Given the description of an element on the screen output the (x, y) to click on. 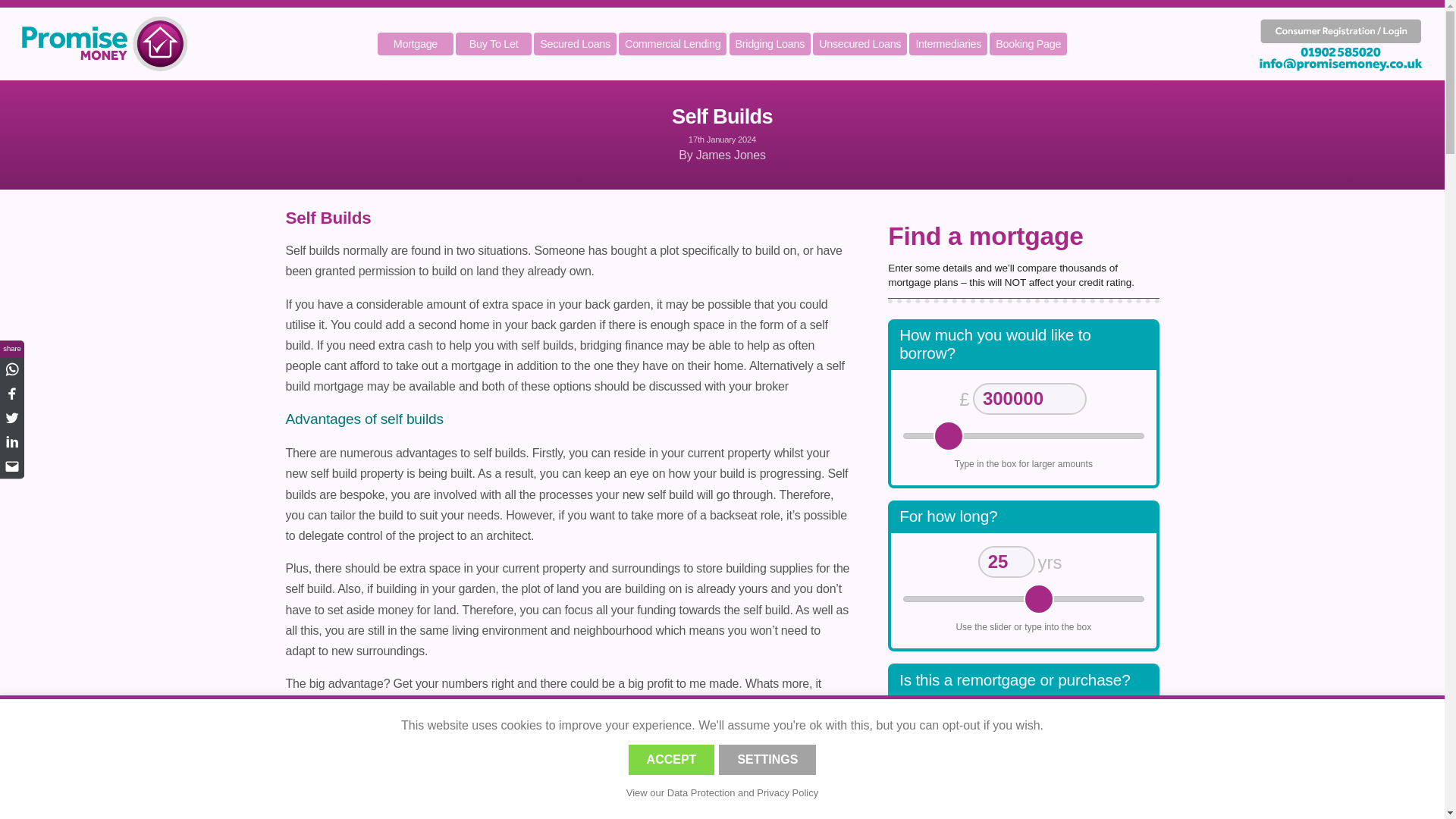
0 (1029, 815)
25 (1006, 562)
300000 (1022, 435)
300000 (1029, 398)
25 (1022, 598)
